Given the description of an element on the screen output the (x, y) to click on. 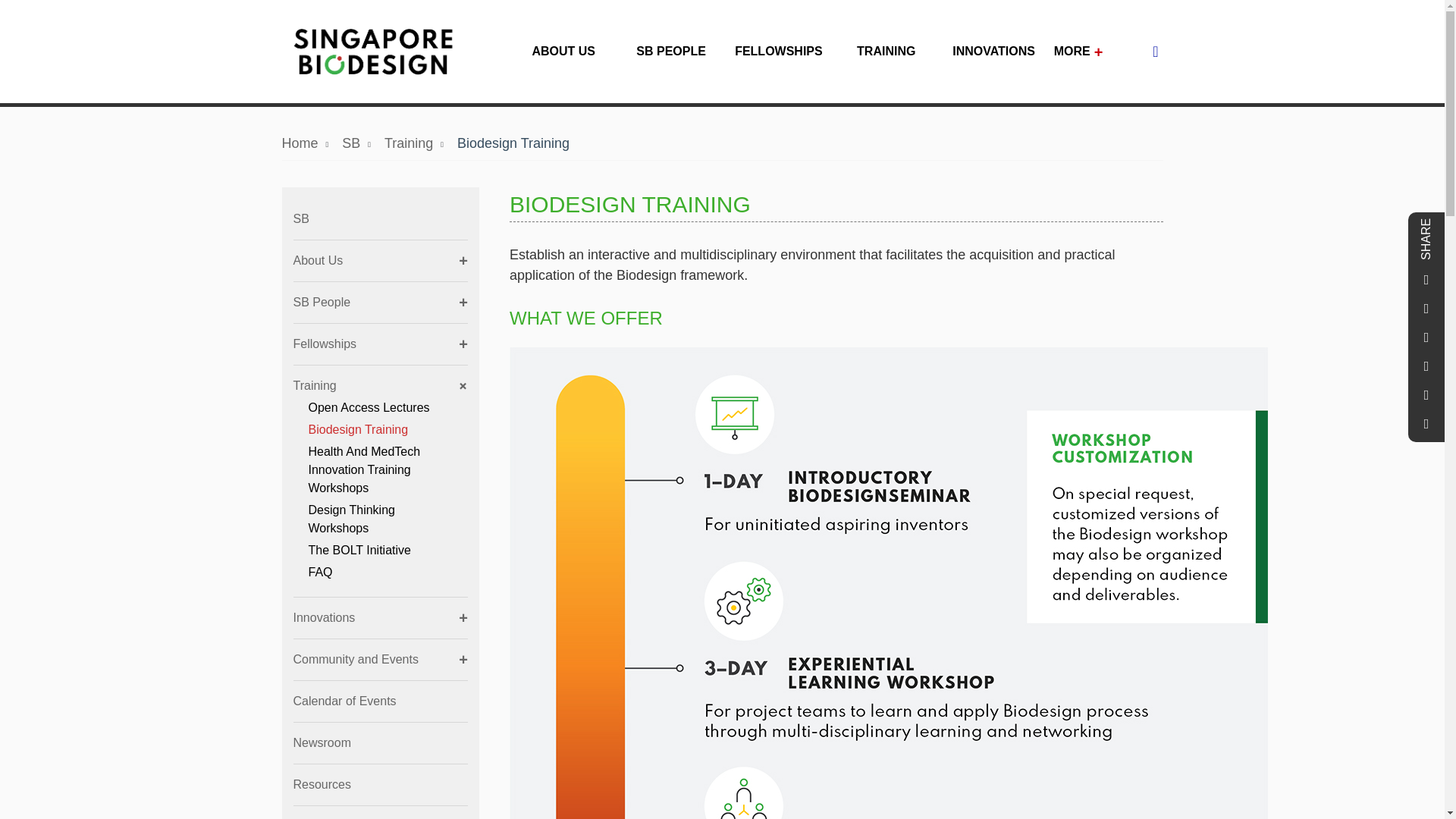
SB PEOPLE (670, 59)
TRAINING (885, 59)
FELLOWSHIPS (778, 59)
INNOVATIONS (993, 59)
ABOUT US (562, 59)
